Given the description of an element on the screen output the (x, y) to click on. 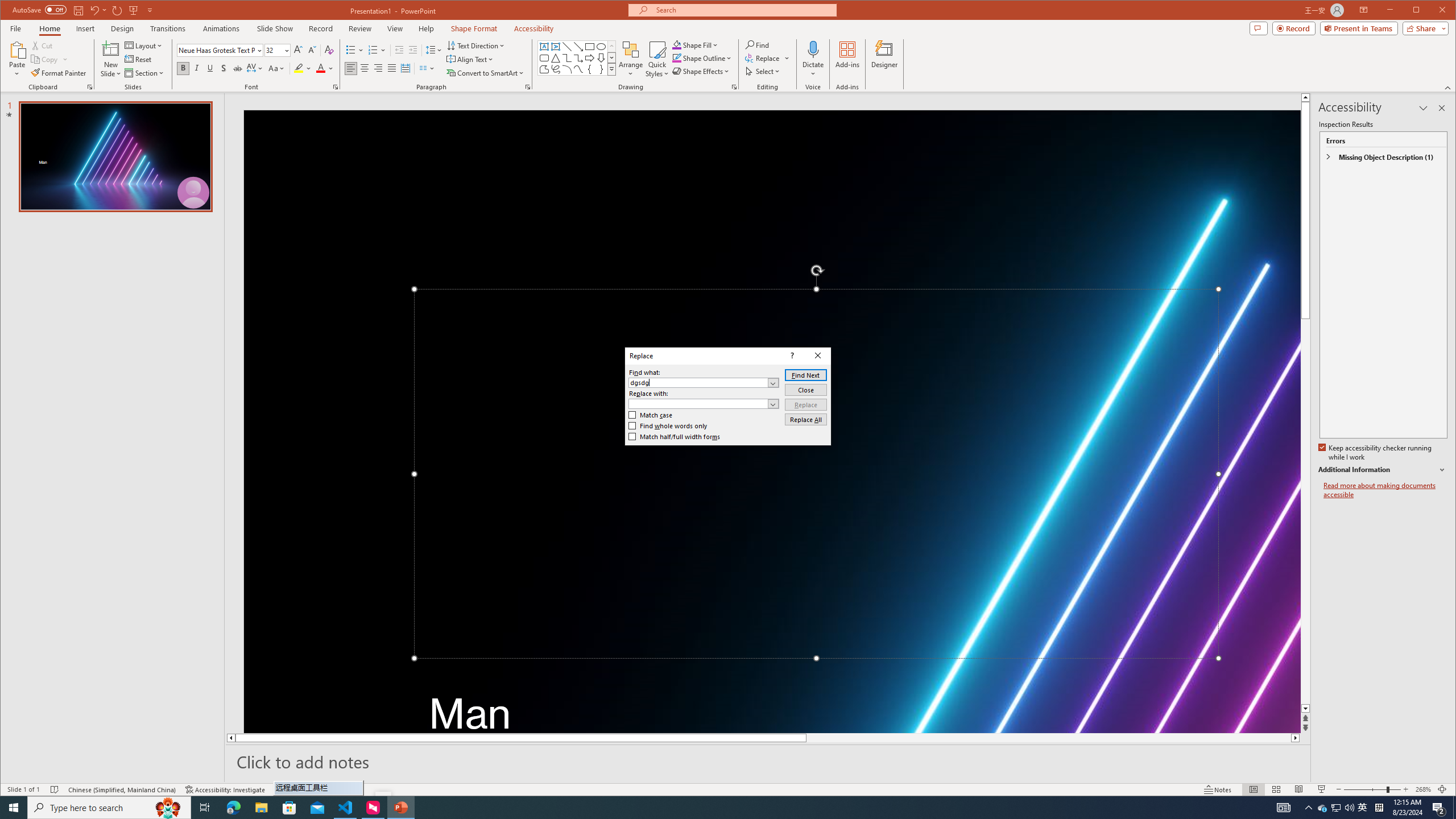
Zoom 268% (1422, 789)
